Given the description of an element on the screen output the (x, y) to click on. 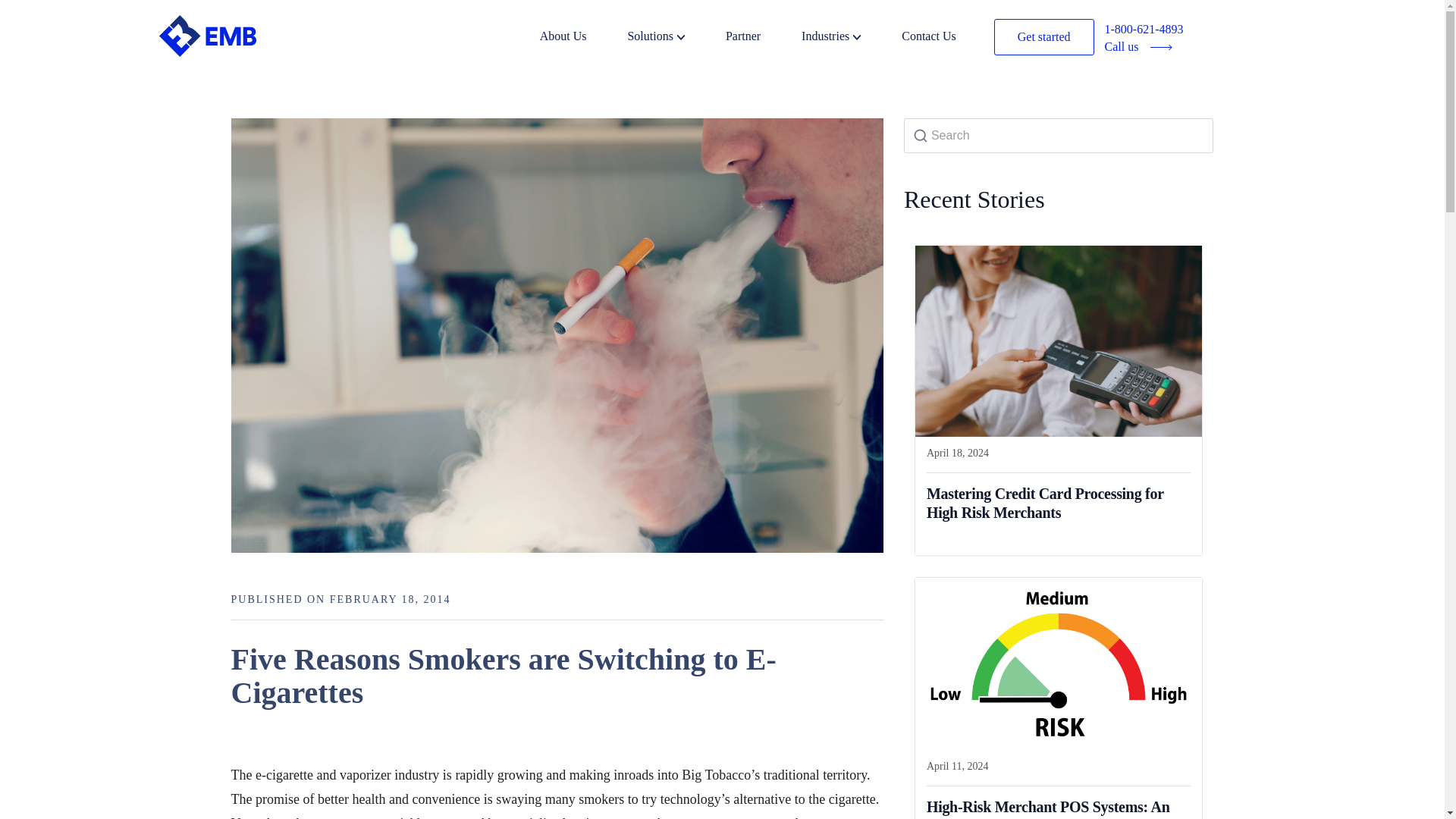
About Us (582, 37)
Solutions (674, 37)
Partner (761, 37)
Industries (850, 37)
